Given the description of an element on the screen output the (x, y) to click on. 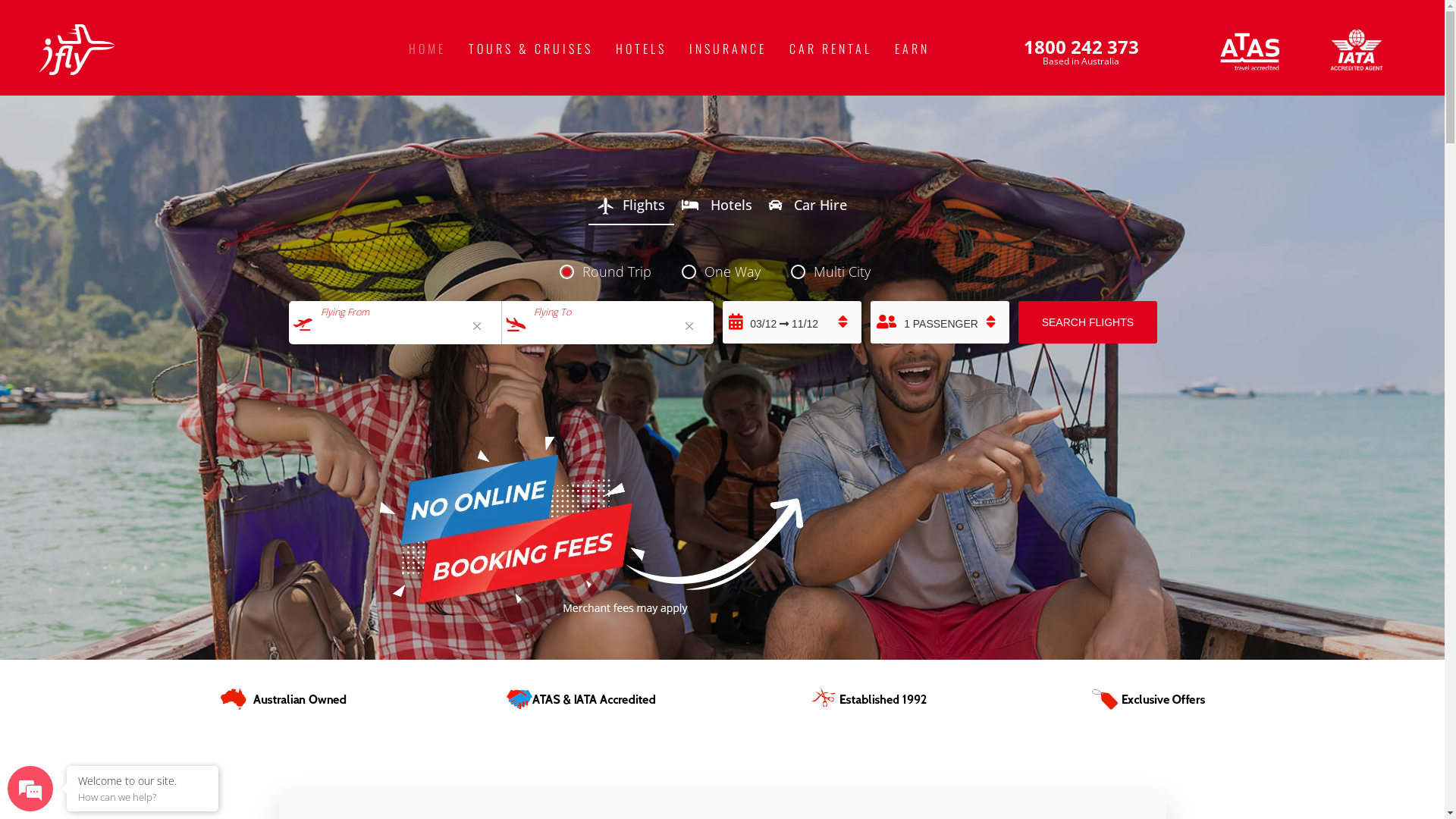
Hotels Element type: text (716, 207)
TOURS & CRUISES Element type: text (530, 48)
HOTELS Element type: text (640, 48)
CAR RENTAL Element type: text (830, 48)
EARN Element type: text (912, 48)
HOME Element type: text (427, 48)
1 PASSENGER Element type: text (939, 322)
SEARCH FLIGHTS Element type: text (1087, 322)
Car Hire Element type: text (807, 207)
1800 242 373 Element type: text (1081, 46)
03/12 11/12 Element type: text (791, 322)
Multi City Element type: text (837, 271)
Flights Element type: text (630, 206)
Based in Australia Element type: text (1080, 60)
INSURANCE Element type: text (727, 48)
